Given the description of an element on the screen output the (x, y) to click on. 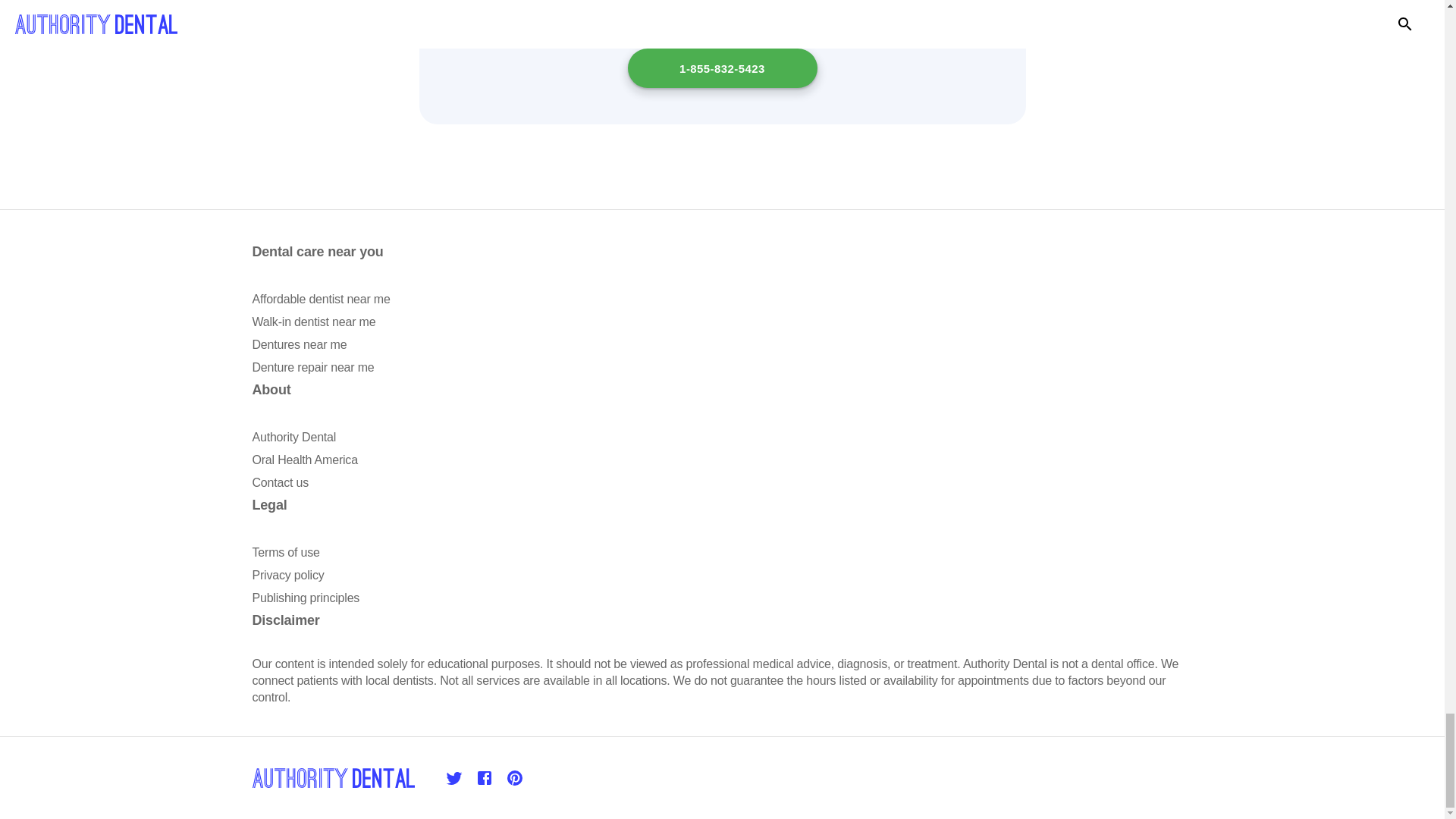
Dentures near me (298, 344)
1-855-832-5423 (721, 67)
Walk-in dentist near me (313, 321)
Privacy policy (287, 574)
Authority Dental (293, 436)
Contact us (279, 481)
Denture repair near me (312, 367)
Oral Health America (303, 459)
Affordable dentist near me (320, 298)
Publishing principles (305, 597)
